Given the description of an element on the screen output the (x, y) to click on. 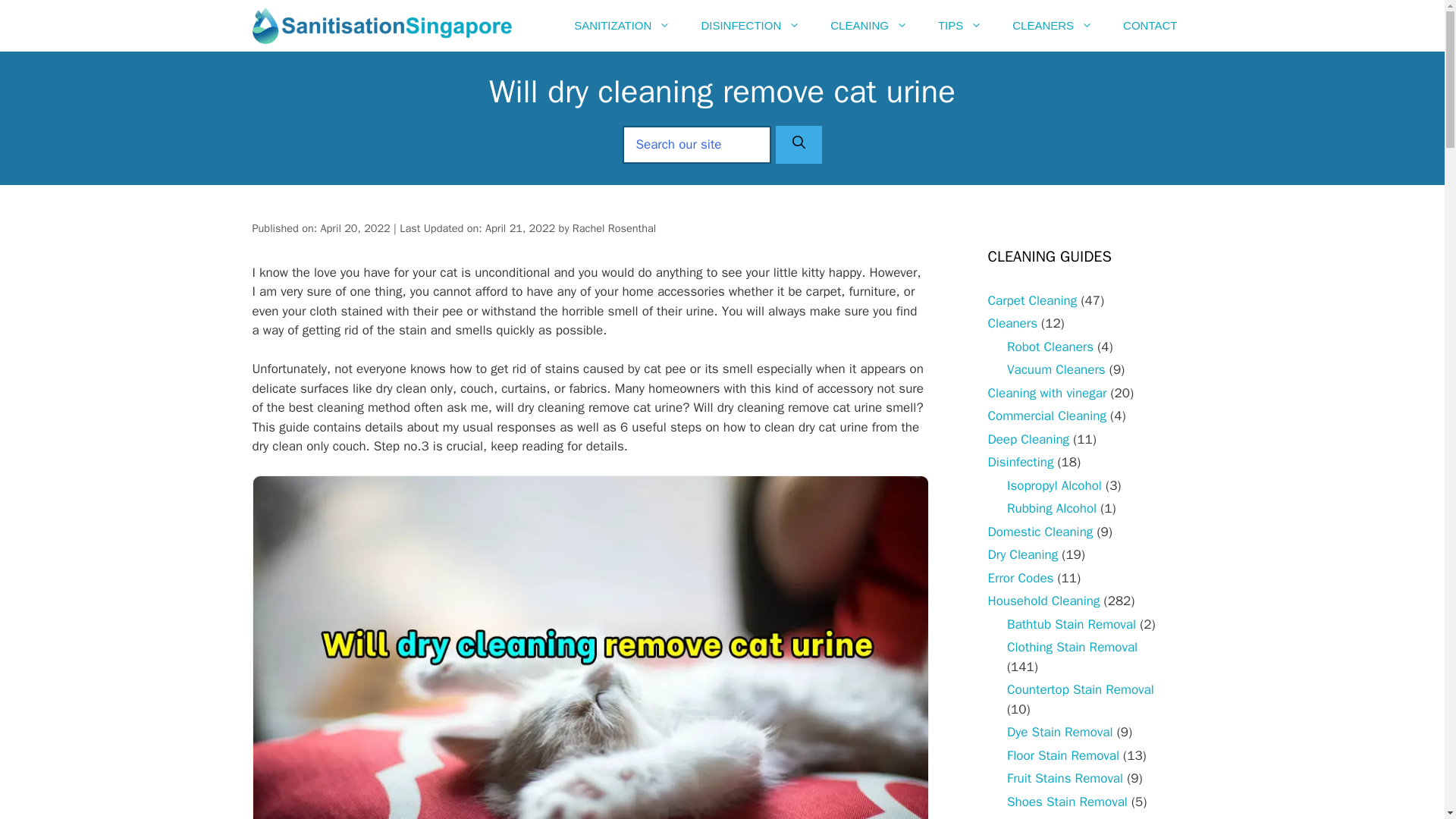
CLEANERS (1052, 25)
DISINFECTION (750, 25)
Disinfecting articles, checklist and tips (1019, 462)
Rachel Rosenthal (614, 228)
View all posts by Rachel Rosenthal (614, 228)
CONTACT (1150, 25)
TIPS (960, 25)
Search for: (697, 144)
Sanitisation Singapore (385, 25)
SANITIZATION (622, 25)
